Given the description of an element on the screen output the (x, y) to click on. 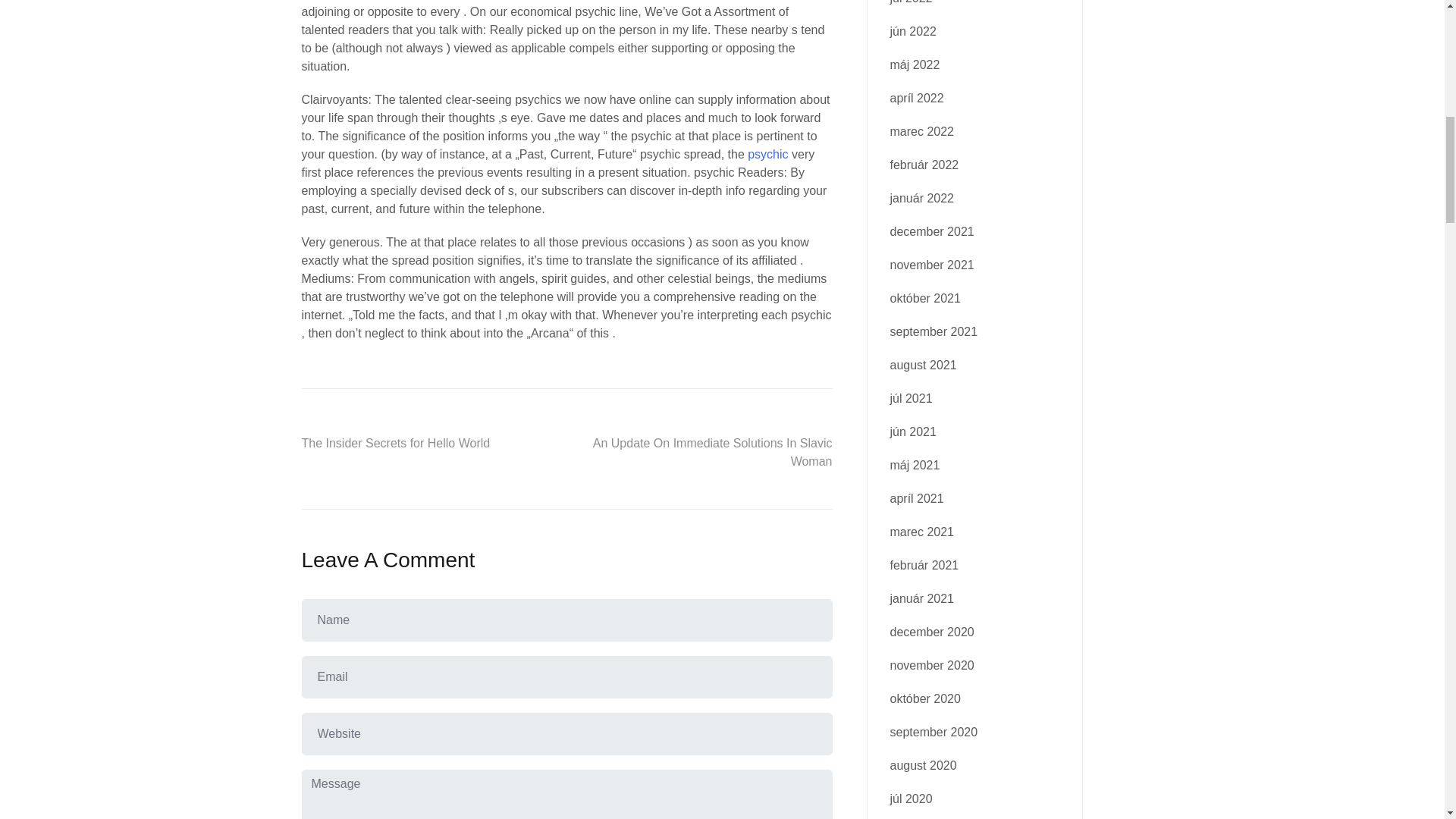
november 2021 (931, 264)
september 2021 (933, 331)
marec 2022 (922, 131)
The Insider Secrets for Hello World (395, 442)
psychic (767, 154)
An Update On Immediate Solutions In Slavic Woman (712, 451)
december 2021 (931, 231)
